Given the description of an element on the screen output the (x, y) to click on. 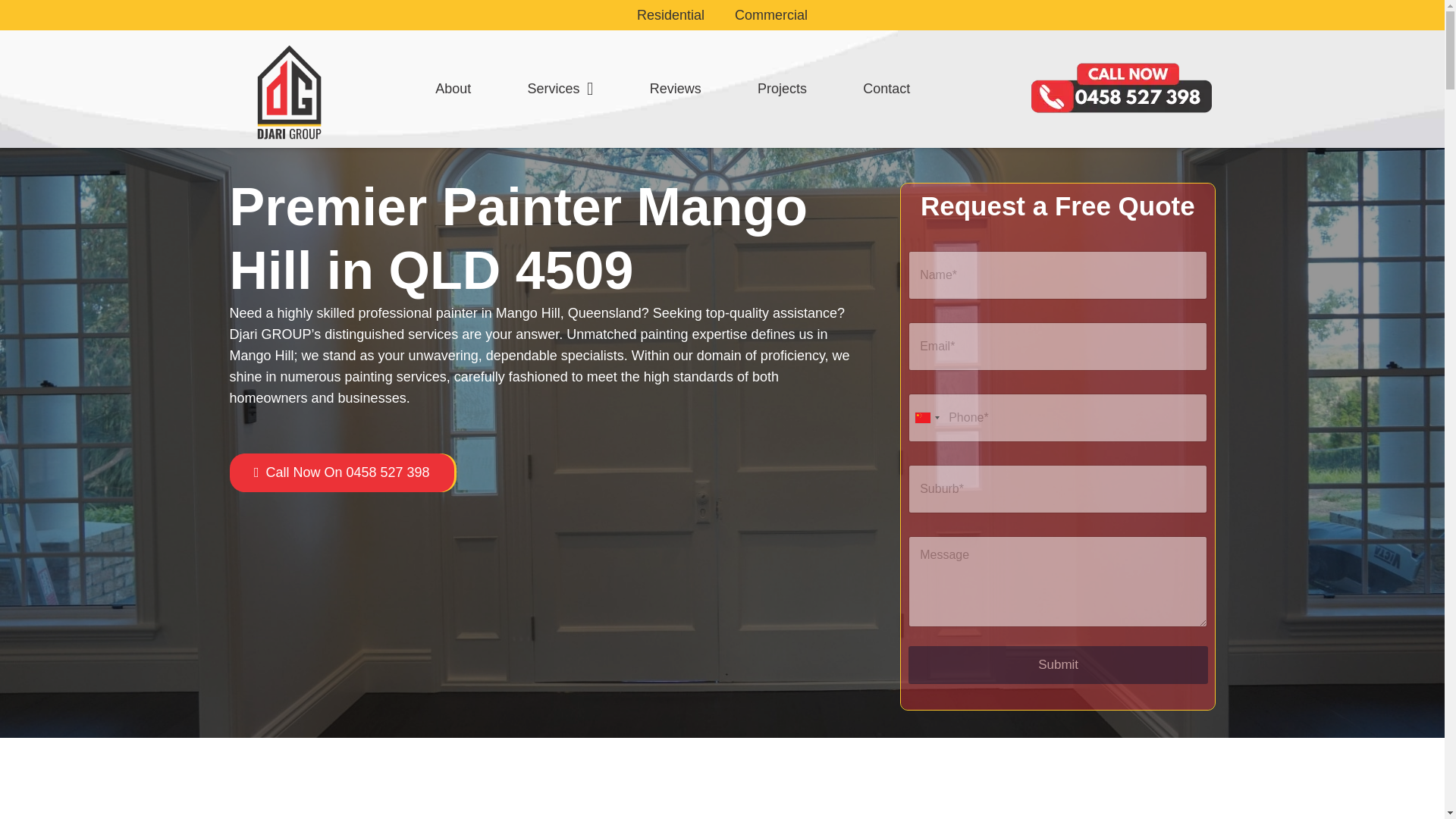
Call Now On 0458 527 398 (341, 472)
Residential (670, 15)
Commercial (770, 15)
Submit (1058, 664)
